Given the description of an element on the screen output the (x, y) to click on. 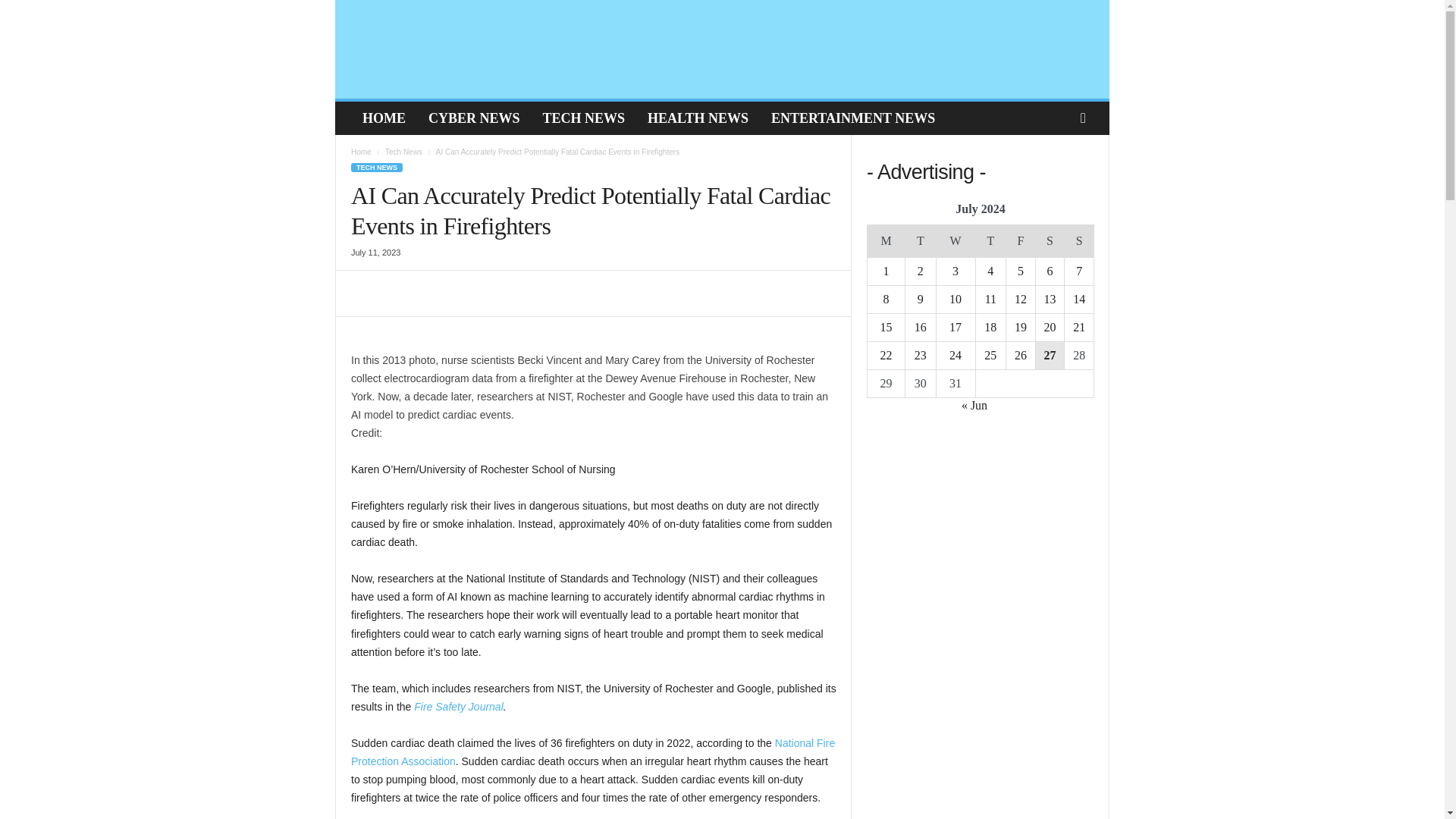
TECH NEWS (584, 118)
National Fire Protection Association (592, 752)
Home (360, 152)
HEALTH NEWS (698, 118)
kaj news (441, 49)
ENTERTAINMENT NEWS (853, 118)
Tech News (403, 152)
Kaj News (442, 48)
CYBER NEWS (473, 118)
Fire Safety Journal (458, 706)
TECH NEWS (376, 166)
View all posts in Tech News (403, 152)
HOME (383, 118)
